Given the description of an element on the screen output the (x, y) to click on. 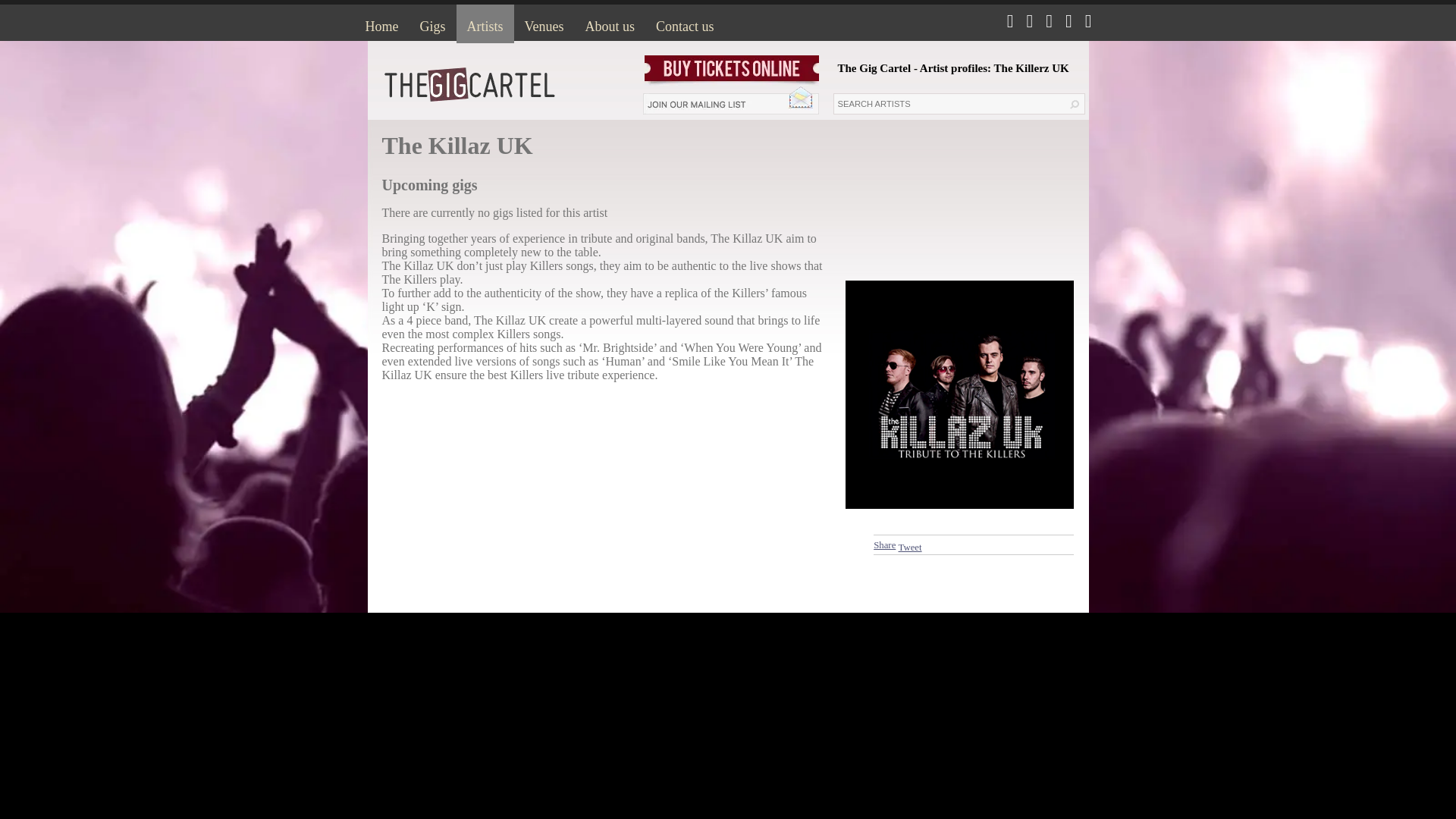
Tweet (909, 547)
Contact us (685, 23)
Gigs (433, 23)
About us (610, 23)
Home (382, 23)
Share (884, 544)
Venues (544, 23)
Search artists (948, 103)
Artists (485, 23)
